Given the description of an element on the screen output the (x, y) to click on. 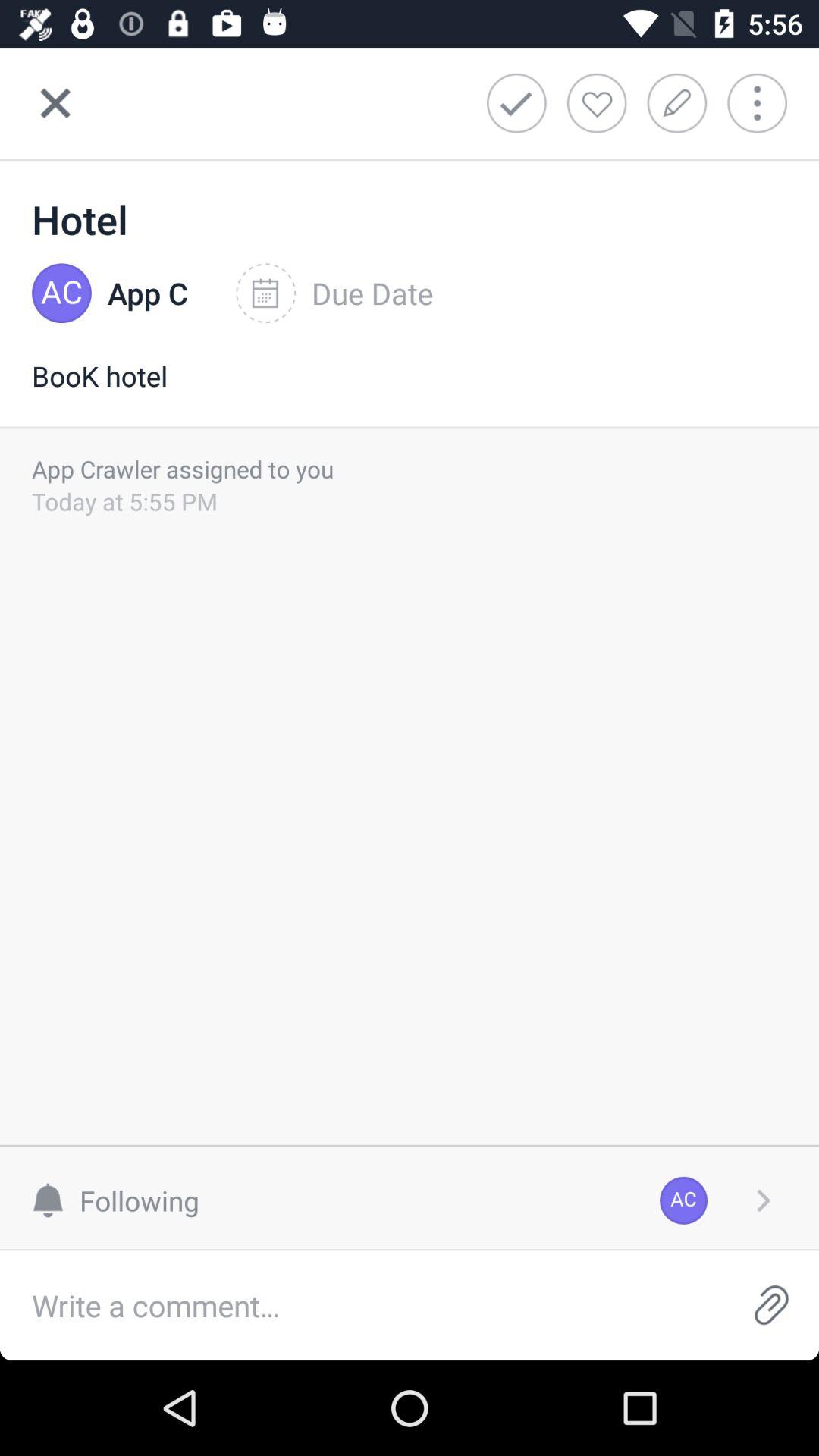
click on due date (334, 293)
select the text field which says write a comment (361, 1304)
click the right arrow mark at the right bottom right to ac (763, 1200)
